Given the description of an element on the screen output the (x, y) to click on. 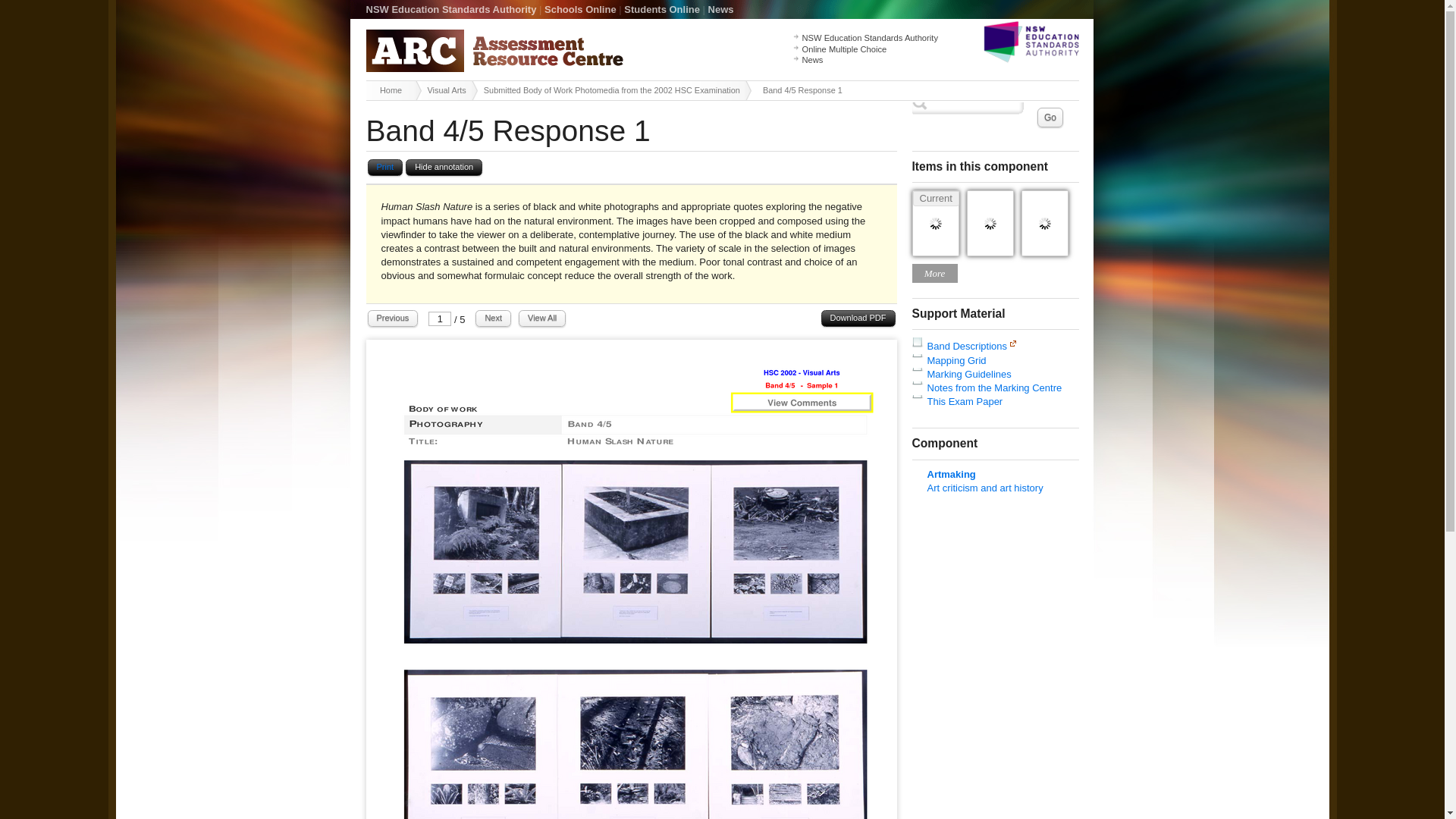
Download PDF (858, 318)
Online Multiple Choice (844, 49)
Hide annotation (443, 167)
View All (542, 318)
Previous (391, 318)
Students Online (662, 9)
NSW Education Standards Authority (869, 37)
Home (392, 90)
Band Descriptions (966, 346)
Next (493, 318)
